Given the description of an element on the screen output the (x, y) to click on. 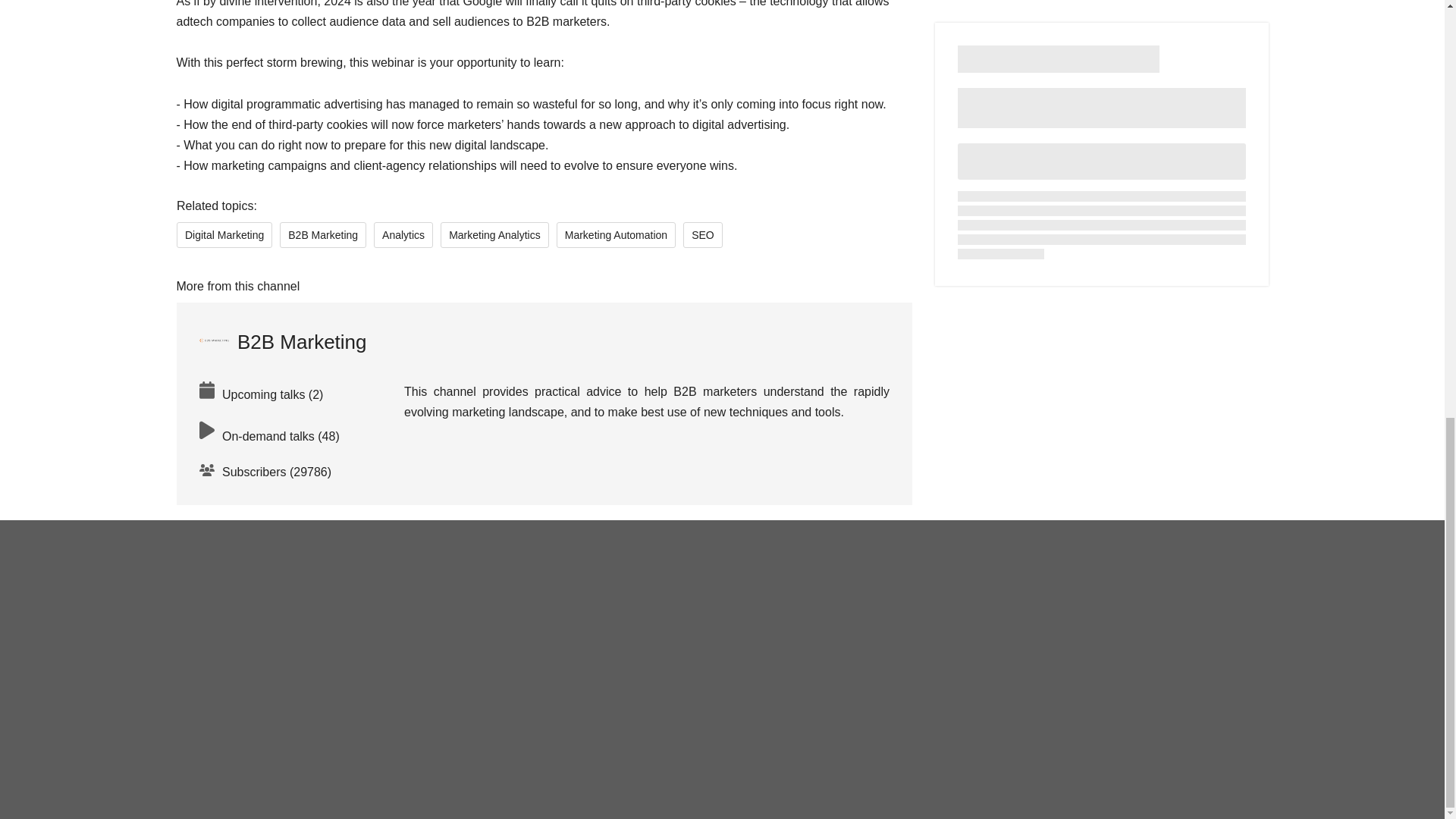
Marketing Analytics (494, 234)
Marketing Automation (615, 234)
B2B Marketing (282, 341)
B2B Marketing (322, 234)
SEO (702, 234)
Digital Marketing (223, 234)
Analytics (403, 234)
Visit B2B Marketing's channel (282, 341)
